Given the description of an element on the screen output the (x, y) to click on. 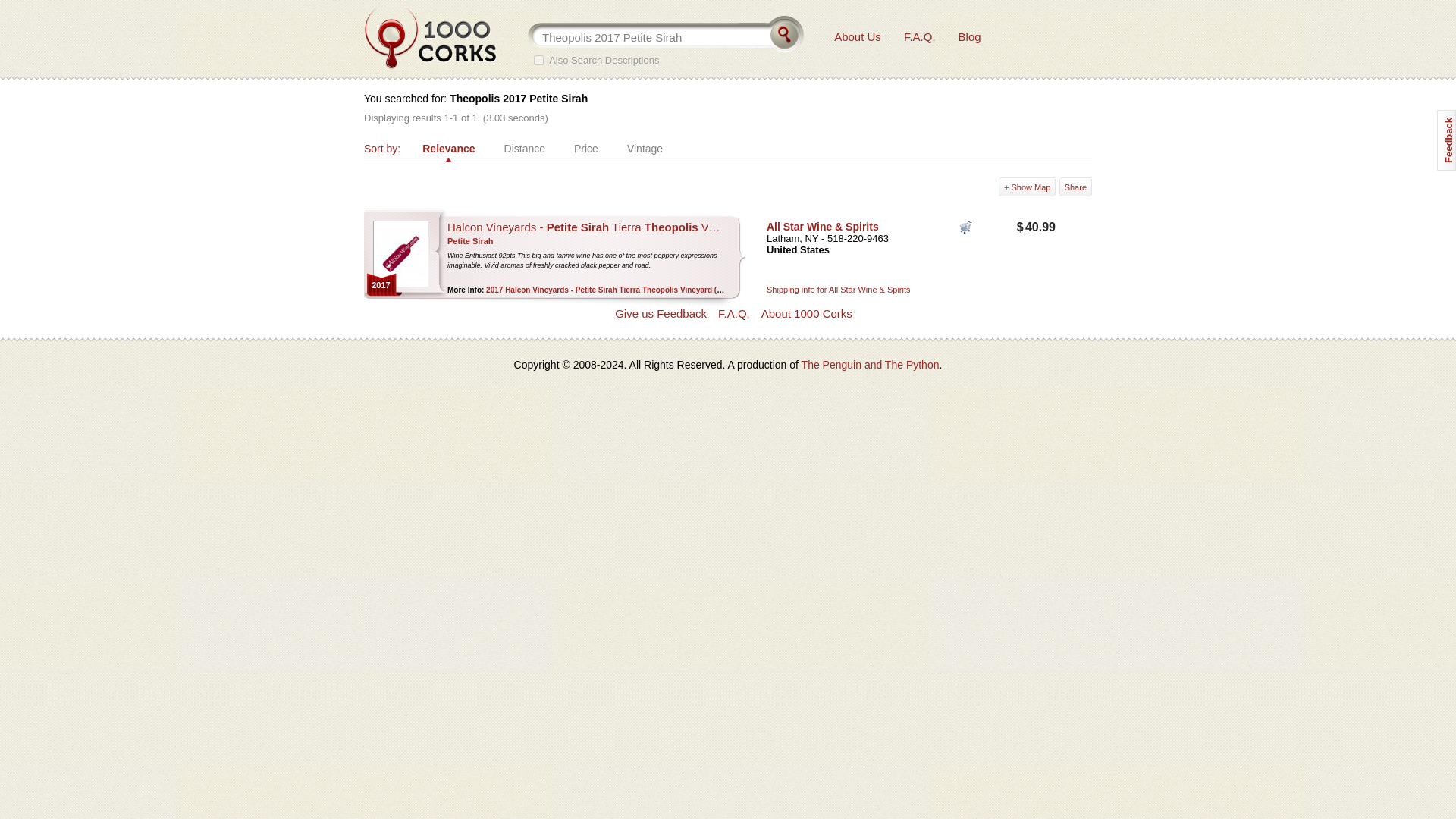
Share (1075, 186)
About Us (857, 36)
Relevance (447, 148)
The Penguin and The Python (870, 364)
Distance (524, 148)
Theopolis 2017 Petite Sirah (651, 36)
Give us Feedback (660, 313)
Vintage (644, 148)
on (538, 60)
Blog (969, 36)
F.A.Q. (733, 313)
F.A.Q. (920, 36)
Petite Sirah (469, 240)
Price (586, 148)
About 1000 Corks (806, 313)
